Given the description of an element on the screen output the (x, y) to click on. 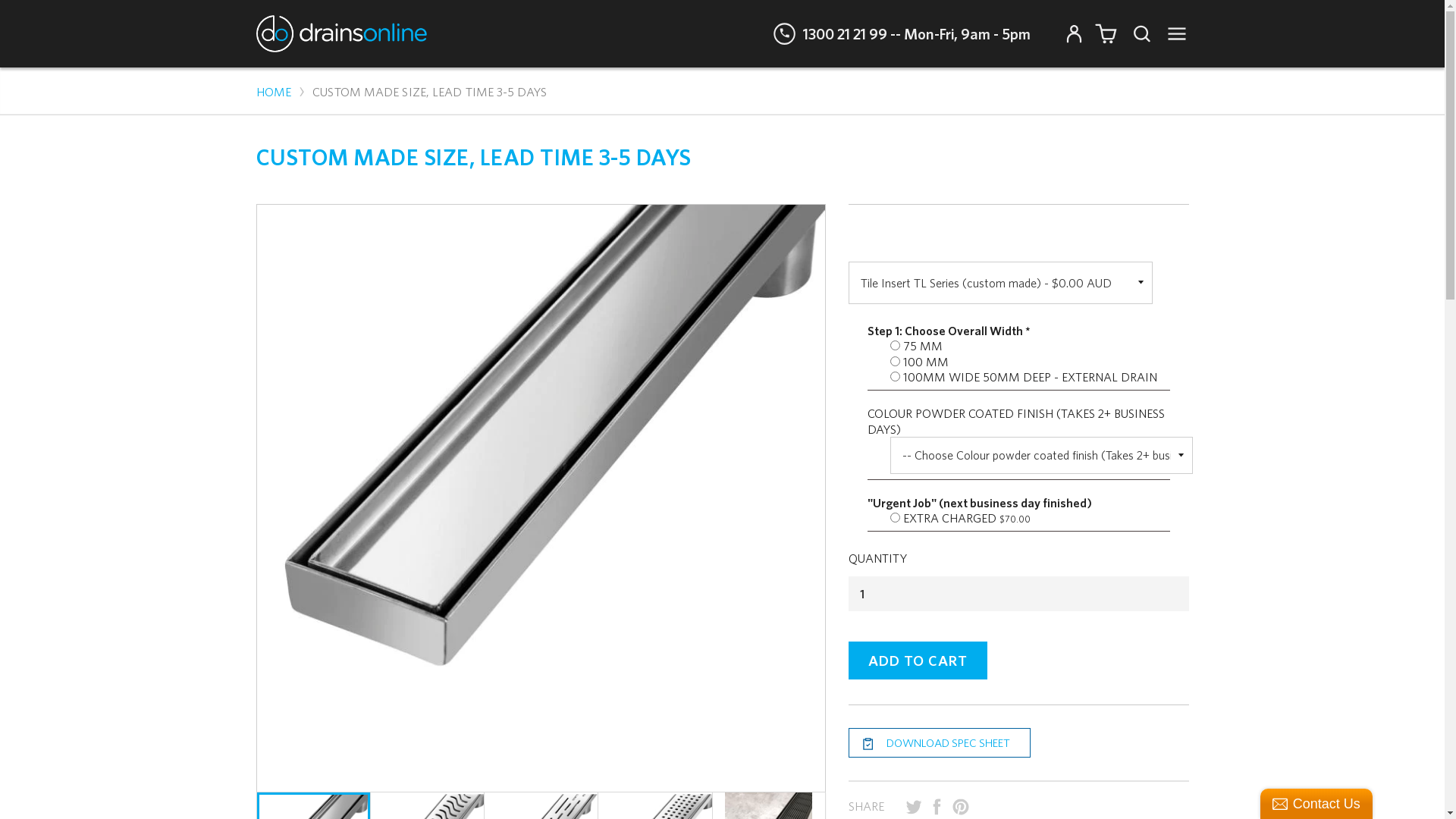
HOME Element type: text (273, 91)
DOWNLOAD SPEC SHEET Element type: text (939, 742)
PIN ON PINTEREST Element type: text (960, 806)
SHARE ON FACEBOOK Element type: text (936, 808)
Cart Element type: text (1106, 33)
Account Element type: text (1074, 33)
ADD TO CART Element type: text (917, 660)
Site navigation Element type: text (1171, 33)
TWEET ON TWITTER Element type: text (913, 808)
Search Element type: text (1135, 33)
